Given the description of an element on the screen output the (x, y) to click on. 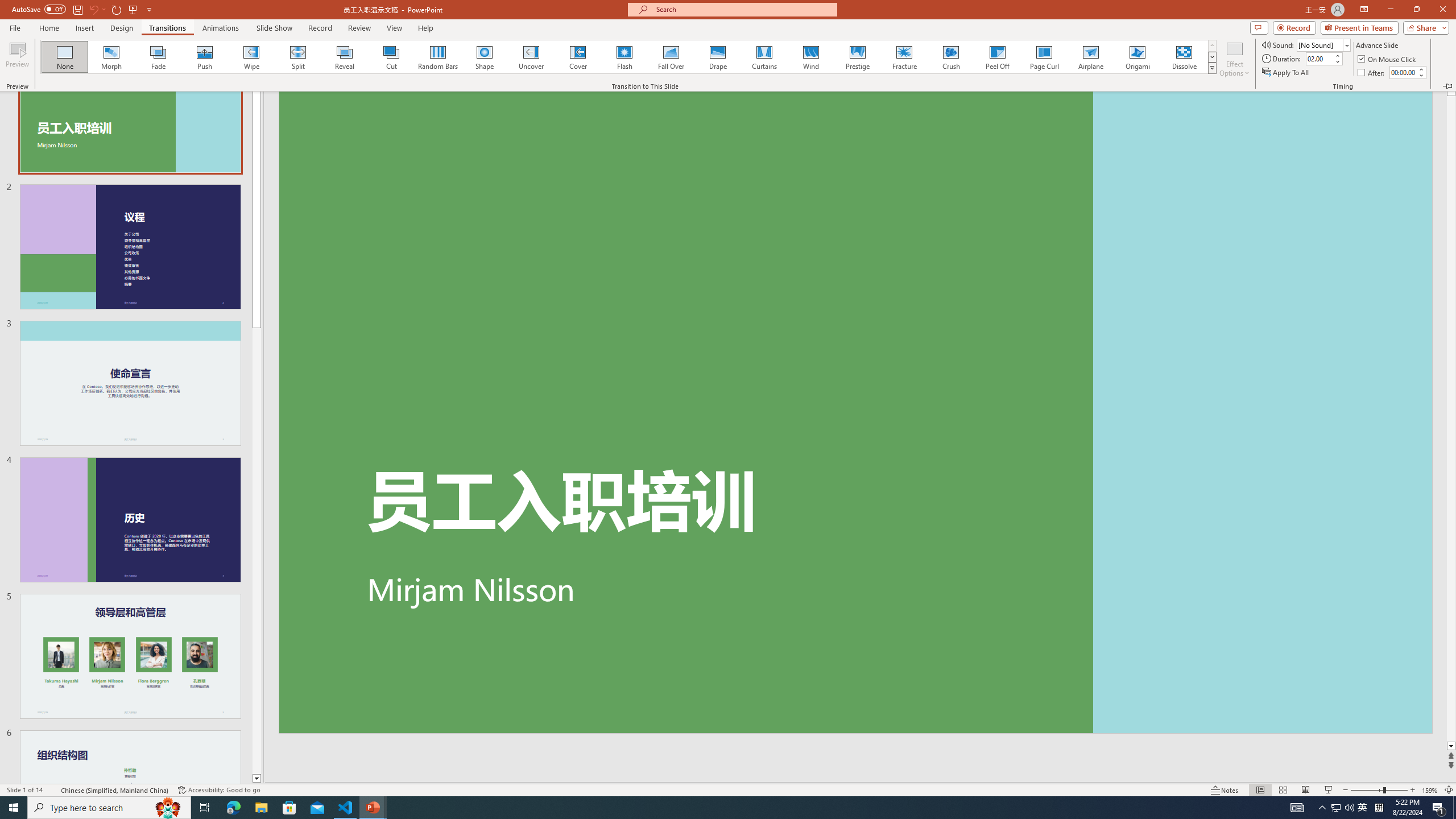
Zoom 159% (1430, 790)
